Given the description of an element on the screen output the (x, y) to click on. 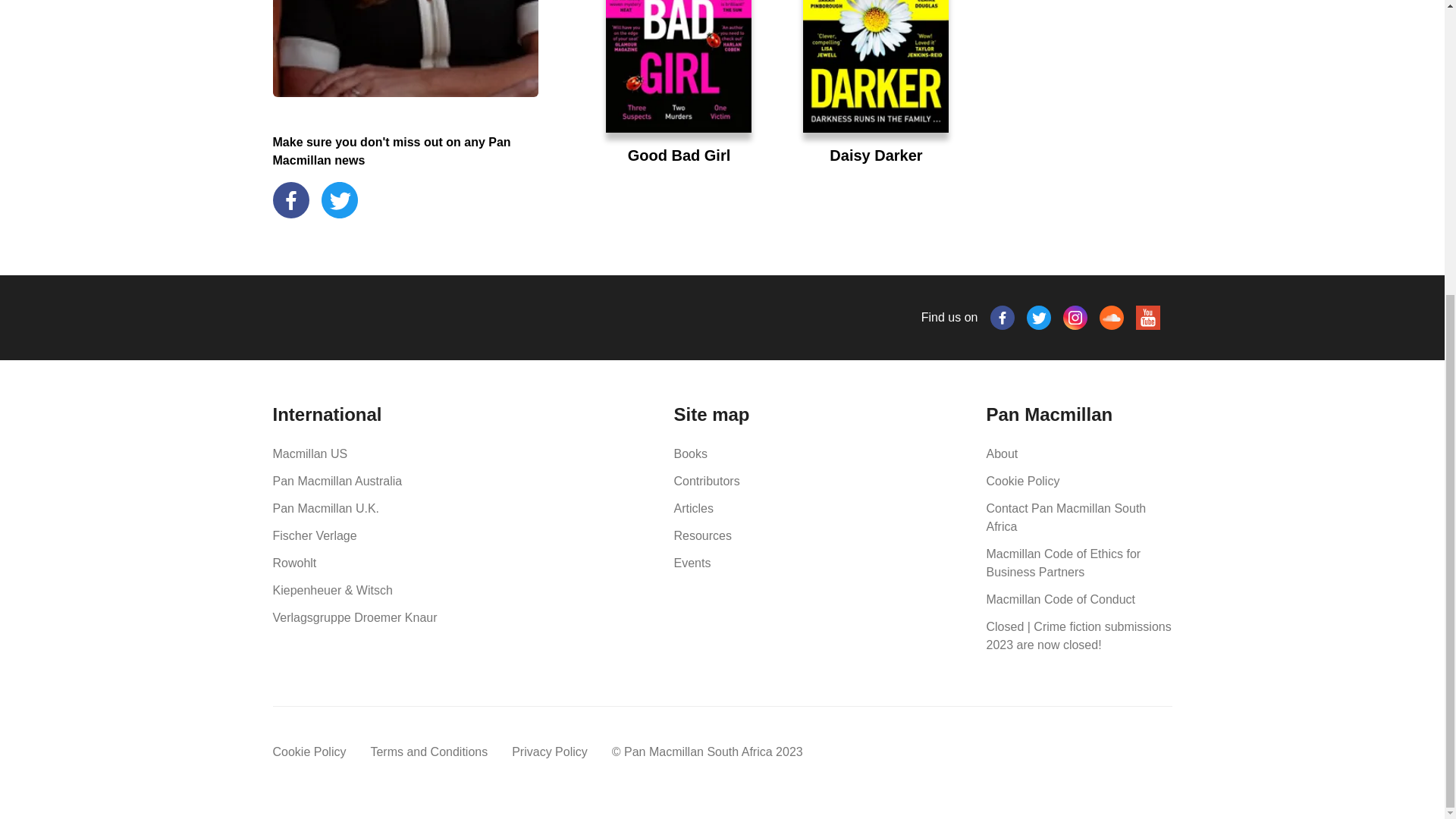
SoundCloud (1111, 317)
Facebook (1002, 317)
YouTube (1147, 317)
Instagram (1074, 317)
Twitter (1038, 317)
